Given the description of an element on the screen output the (x, y) to click on. 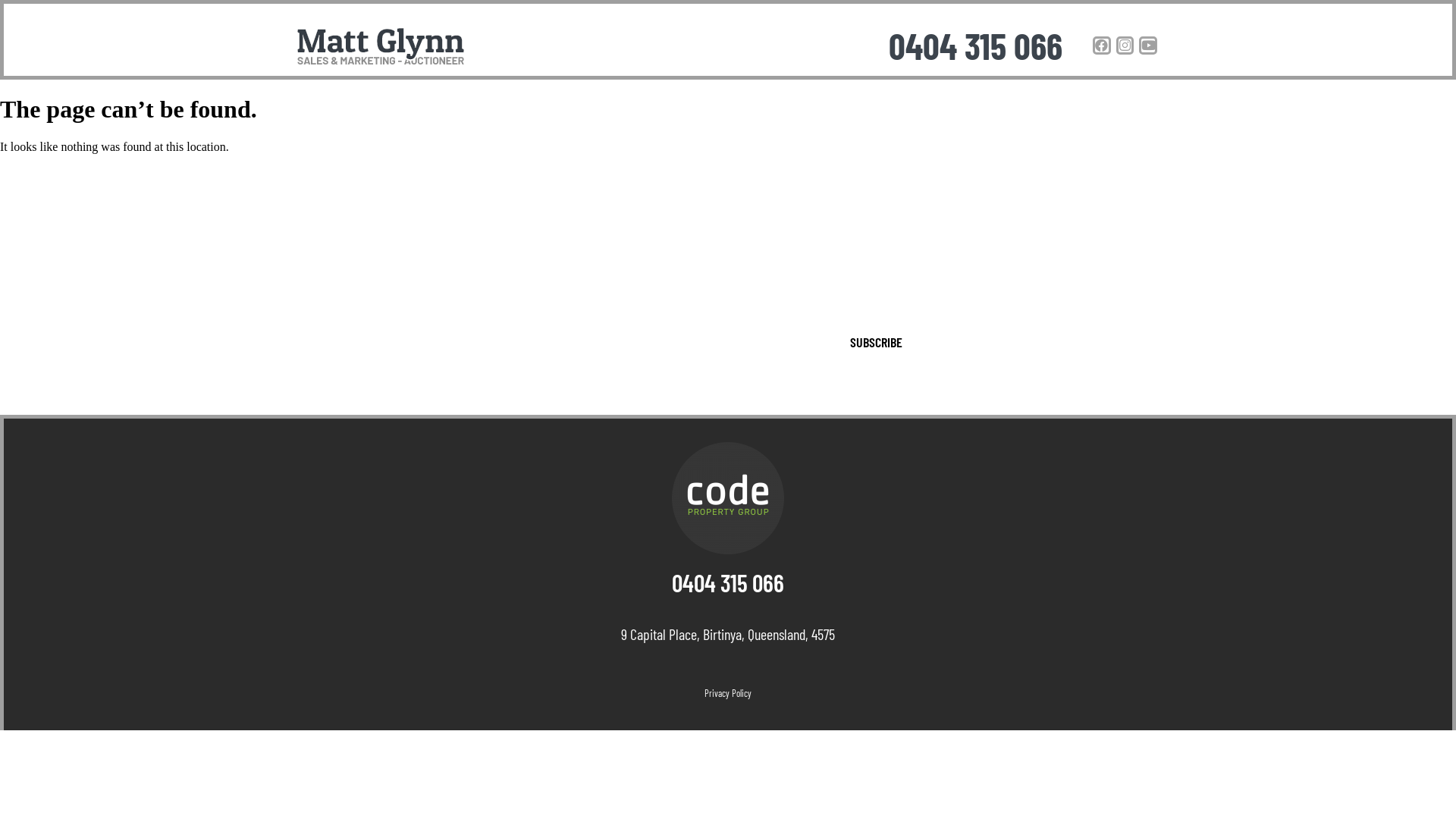
Privacy Policy Element type: text (727, 693)
SUBSCRIBE Element type: text (875, 341)
0404 315 066 Element type: text (975, 45)
